Given the description of an element on the screen output the (x, y) to click on. 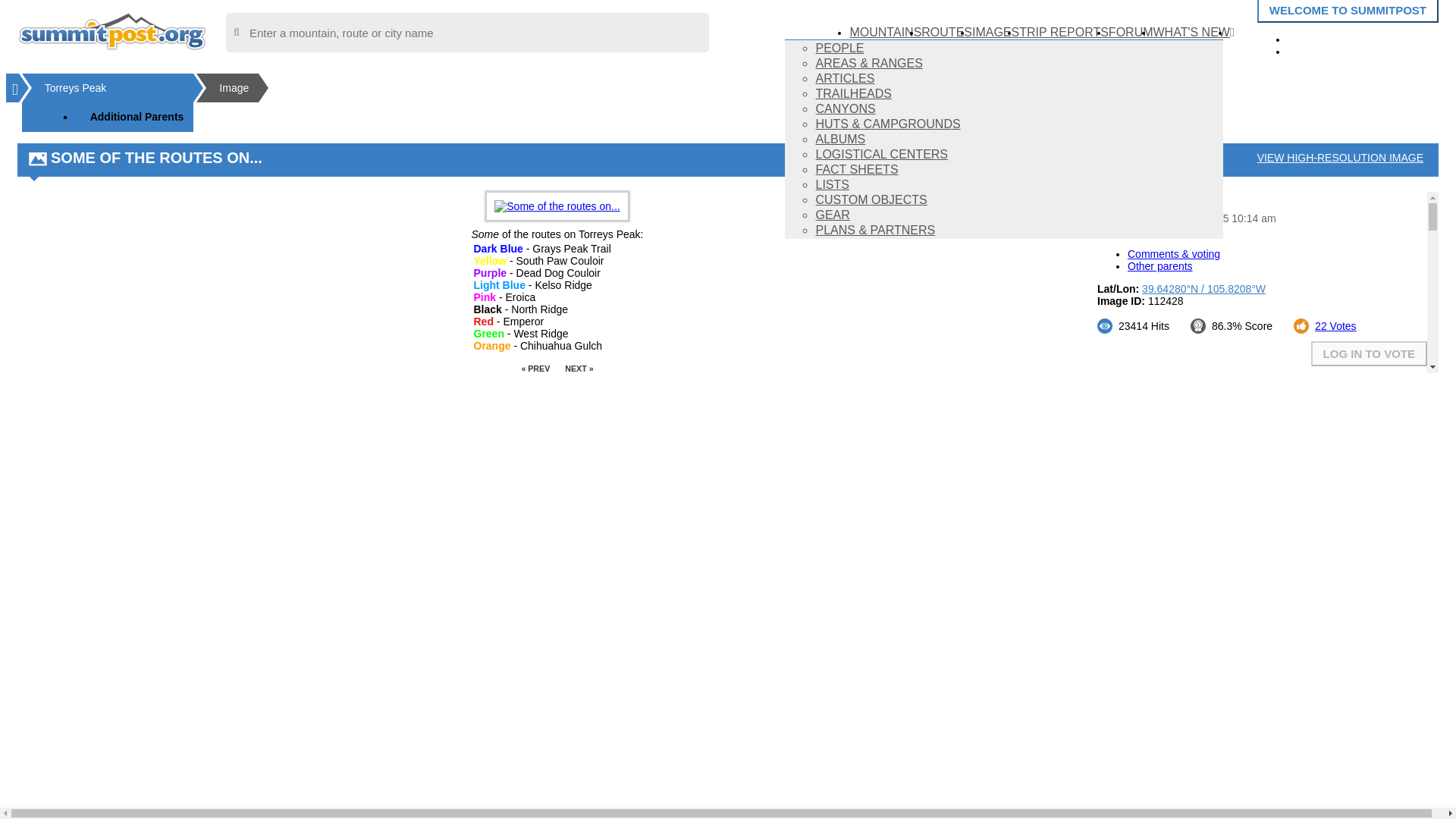
LOG IN TO VOTE (1368, 353)
SummitPost.org (111, 30)
search (467, 32)
TRAILHEADS (853, 92)
WELCOME TO SUMMITPOST (1347, 11)
Andy (1157, 205)
TRIP REPORTS (1063, 31)
FACT SHEETS (856, 169)
Image (233, 87)
VIEW HIGH-RESOLUTION IMAGE (1339, 157)
ARTICLES (845, 78)
Torreys Peak (114, 87)
CUSTOM OBJECTS (870, 199)
PEOPLE (839, 47)
LOGISTICAL CENTERS (881, 154)
